Given the description of an element on the screen output the (x, y) to click on. 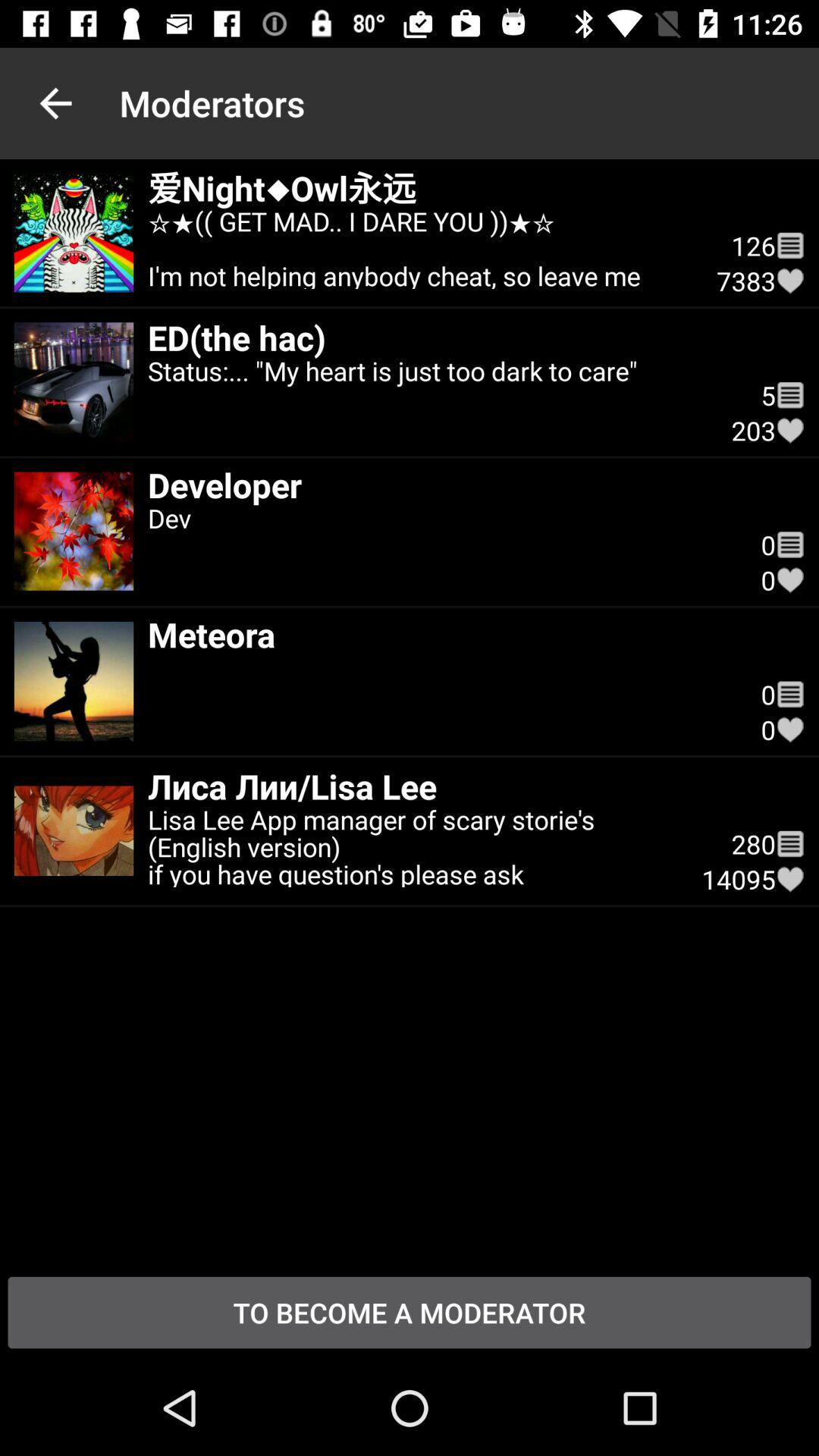
turn off icon below the moderators icon (417, 187)
